Given the description of an element on the screen output the (x, y) to click on. 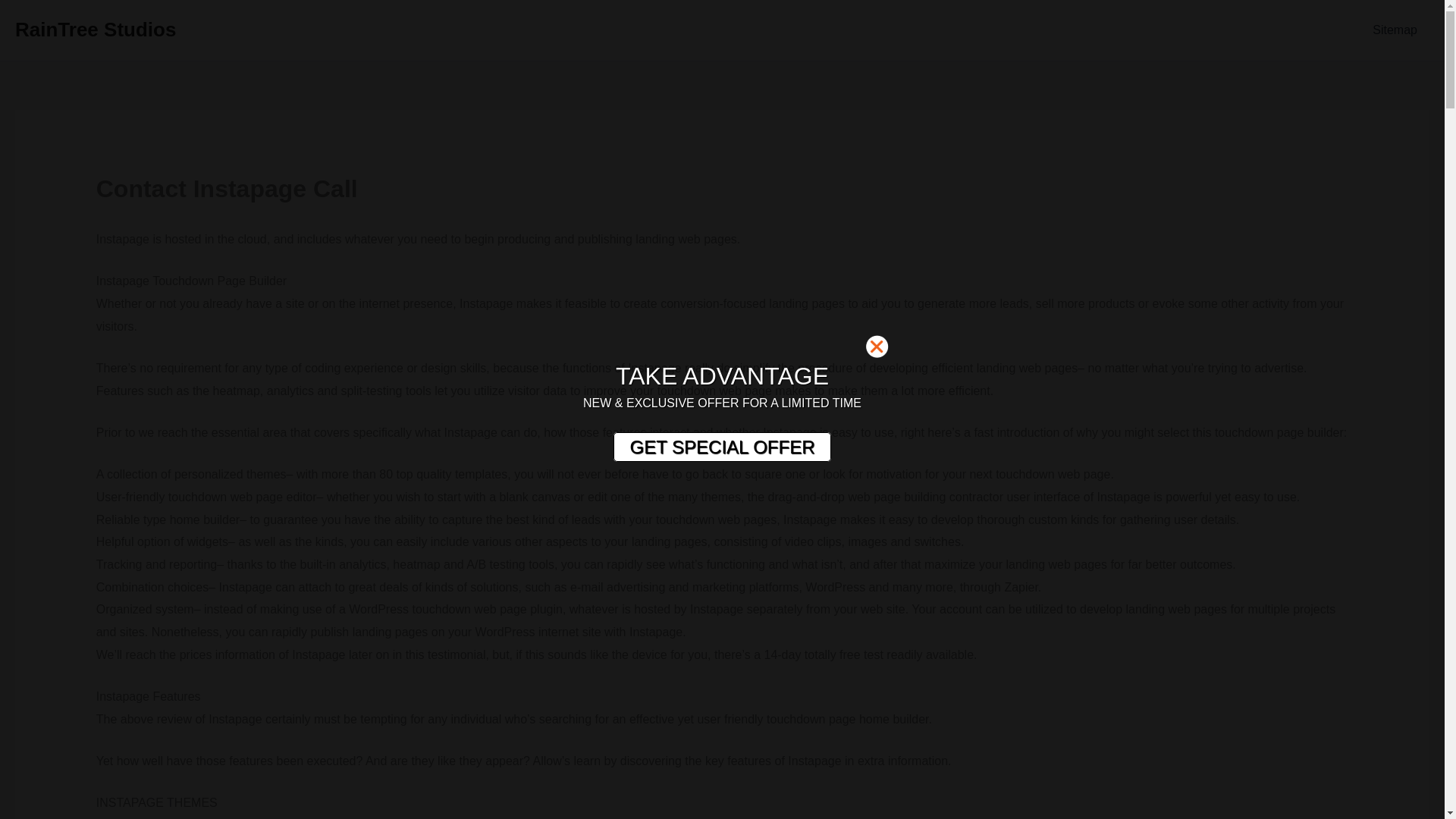
RainTree Studios (95, 29)
Sitemap (1394, 30)
GET SPECIAL OFFER (720, 446)
